Given the description of an element on the screen output the (x, y) to click on. 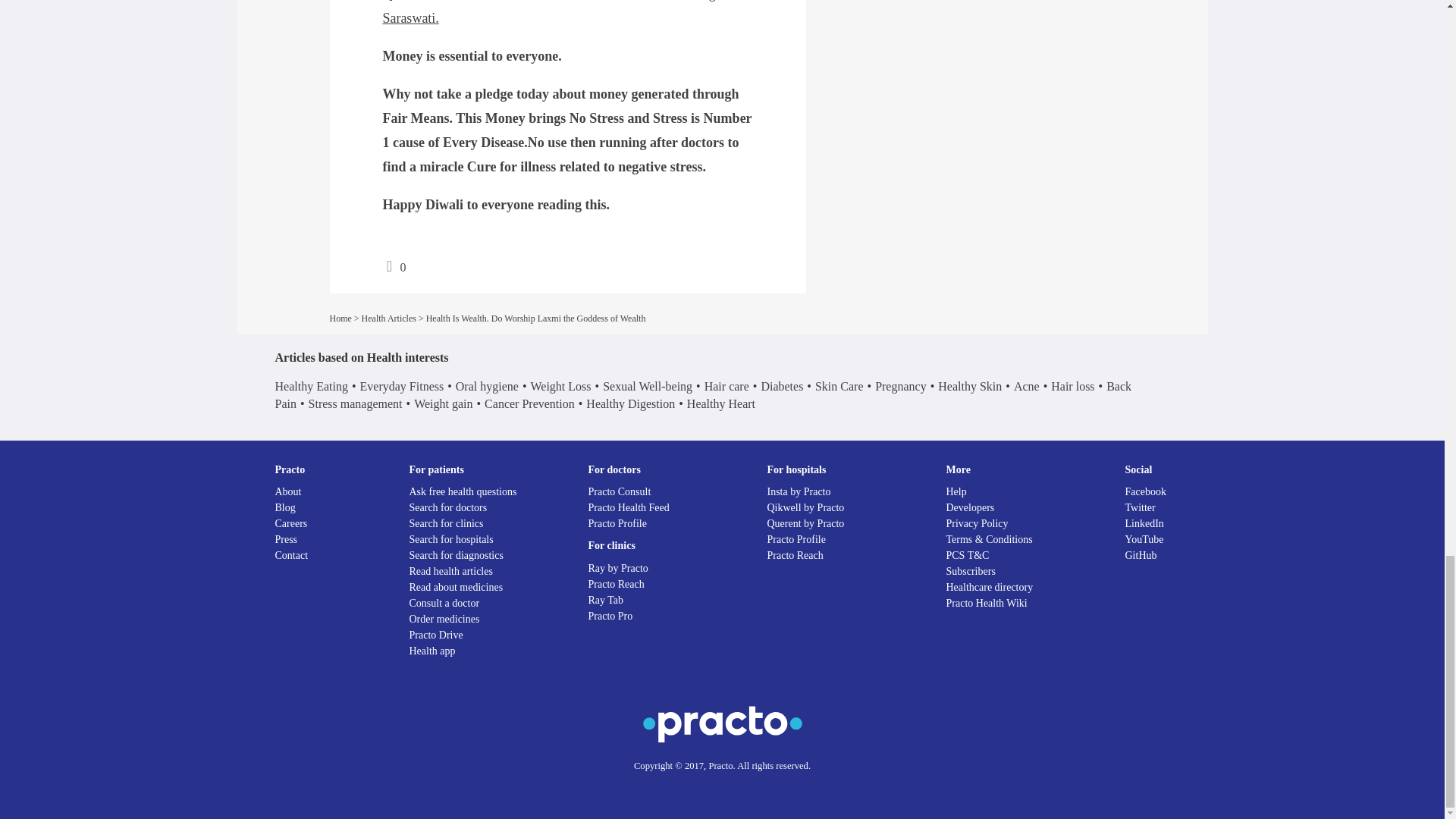
Careers (291, 523)
Skin Care (839, 386)
Diabetes (781, 386)
Blog (285, 507)
Weight Loss (560, 386)
Search for hospitals (451, 539)
Search for diagnostics (456, 555)
Stress management (355, 403)
Ask free health questions (462, 491)
Sexual Well-being (647, 386)
Order medicines (444, 618)
Healthy Skin (969, 386)
Consult a doctor (444, 603)
Home (339, 317)
Everyday Fitness (401, 386)
